Given the description of an element on the screen output the (x, y) to click on. 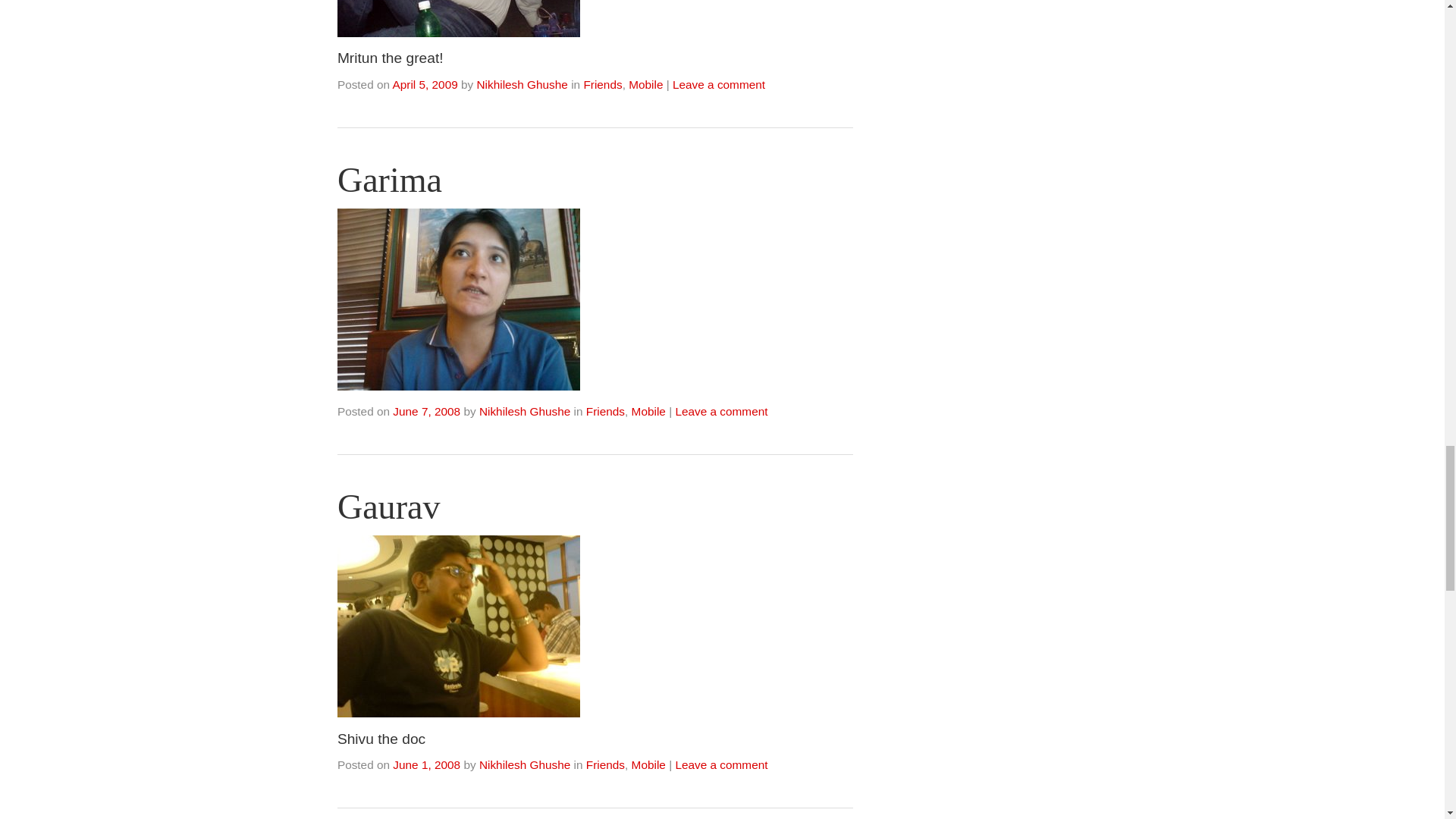
Nikhilesh Ghushe (521, 83)
Friends (602, 83)
April 5, 2009 (424, 83)
Leave a comment (718, 83)
Mobile (645, 83)
